Given the description of an element on the screen output the (x, y) to click on. 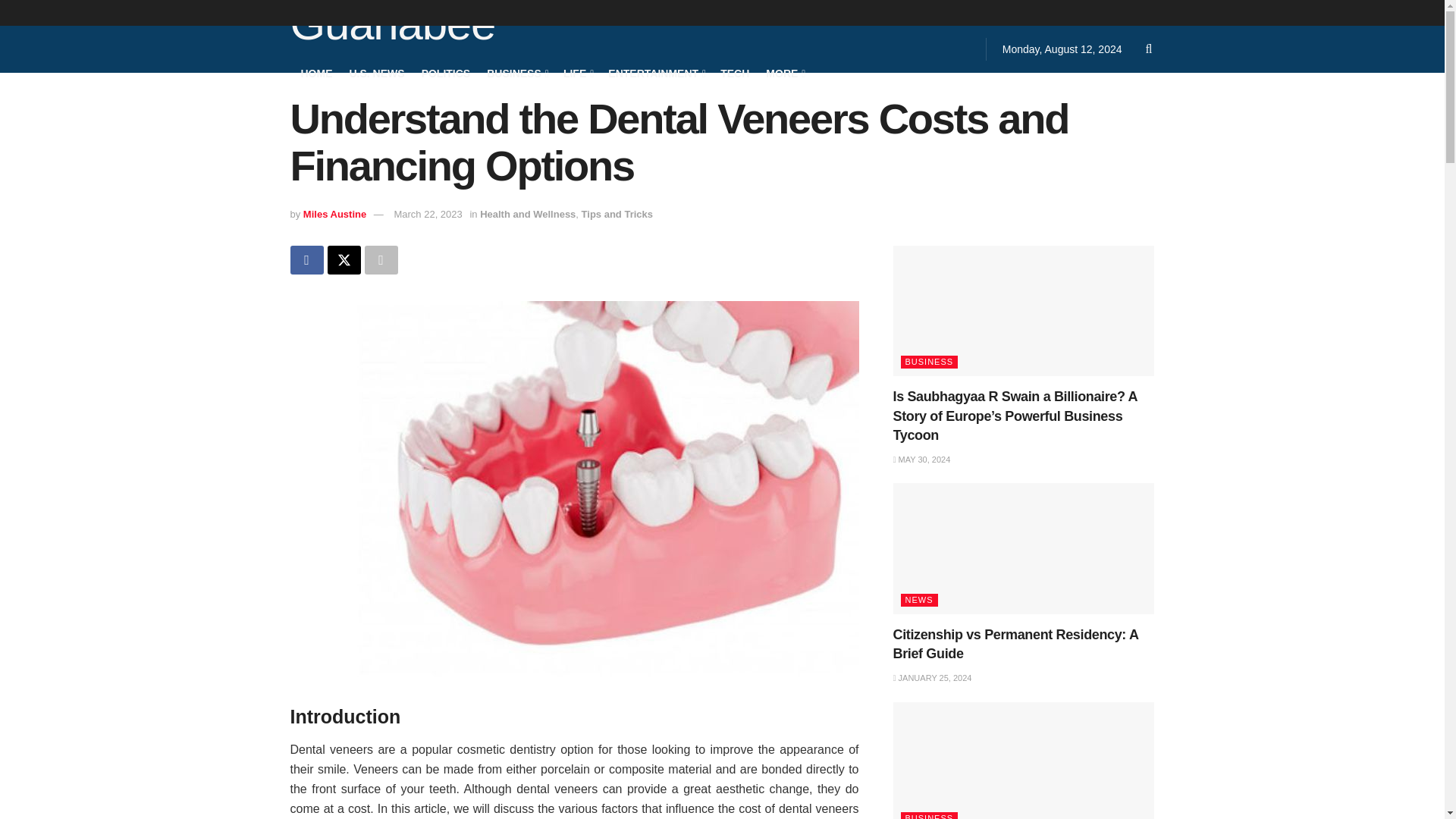
Tips and Tricks (616, 214)
Guanabee (392, 25)
Miles Austine (334, 214)
ENTERTAINMENT (655, 73)
U.S. NEWS (376, 73)
Health and Wellness (527, 214)
POLITICS (446, 73)
March 22, 2023 (427, 214)
BUSINESS (516, 73)
